Given the description of an element on the screen output the (x, y) to click on. 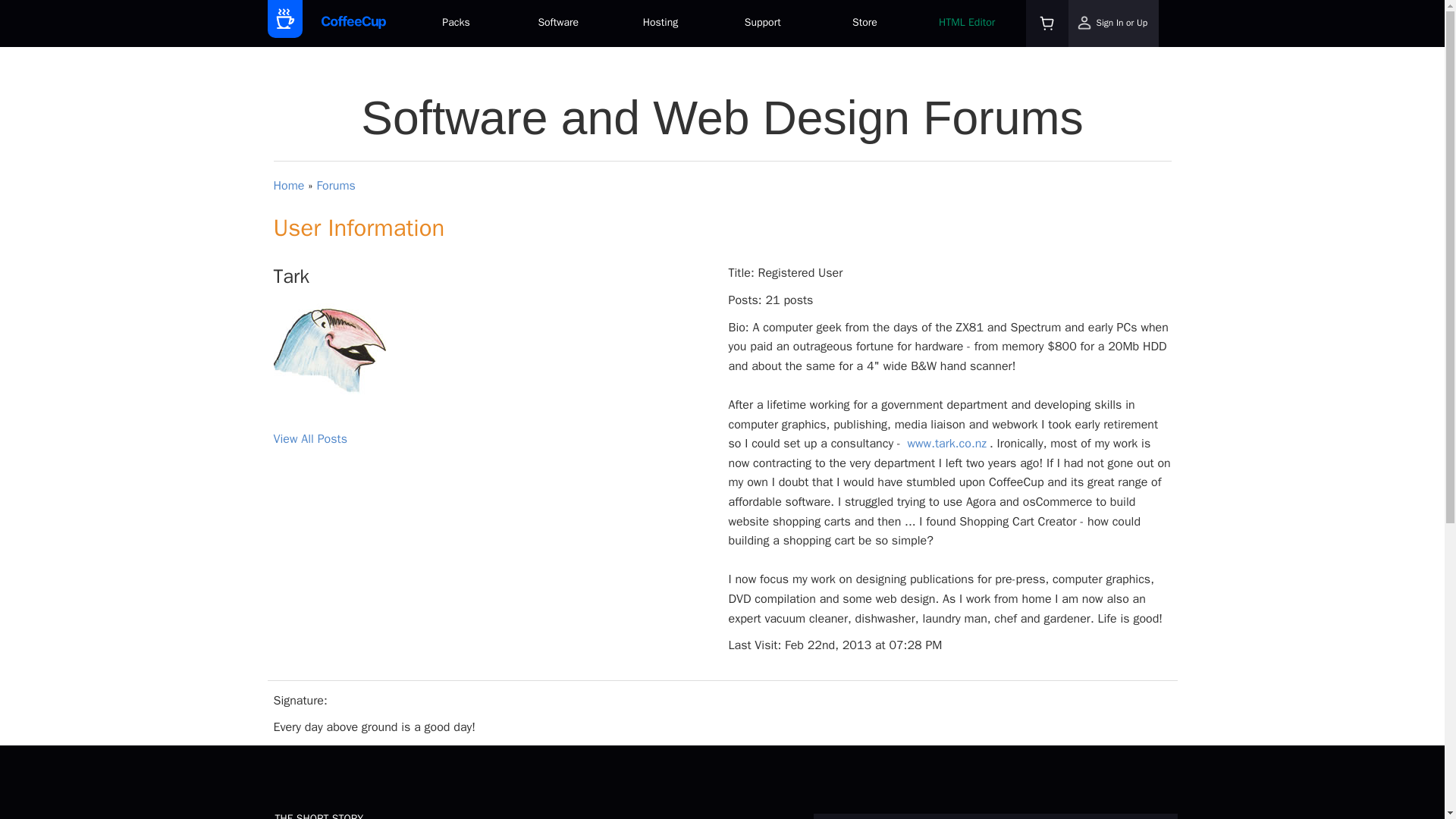
Store (864, 23)
Everything you need for success on the web. (455, 23)
Packs (455, 23)
Web design can be surprisingly simple. (558, 23)
Software (558, 23)
Hosting (660, 23)
CoffeeCup Home (353, 23)
Support (762, 23)
